Given the description of an element on the screen output the (x, y) to click on. 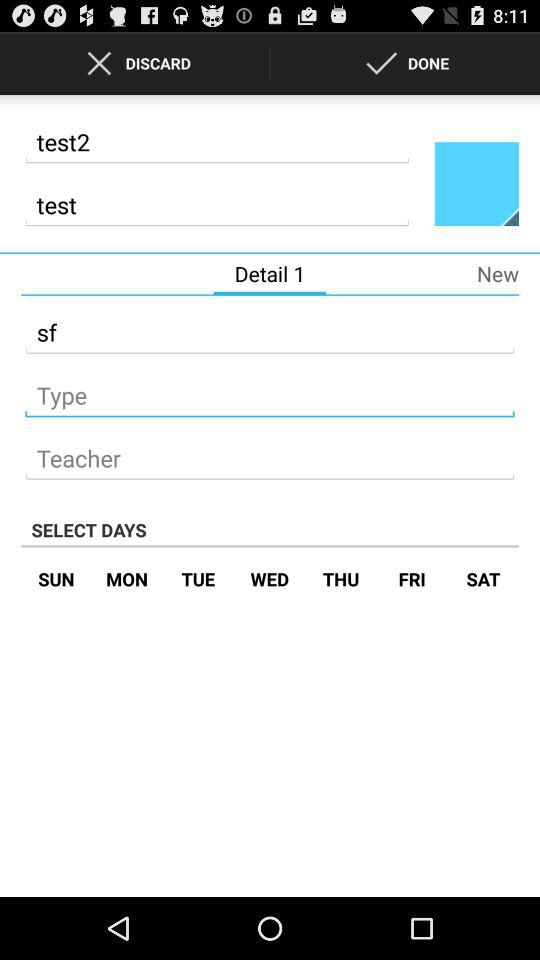
shows empty dash (270, 389)
